Given the description of an element on the screen output the (x, y) to click on. 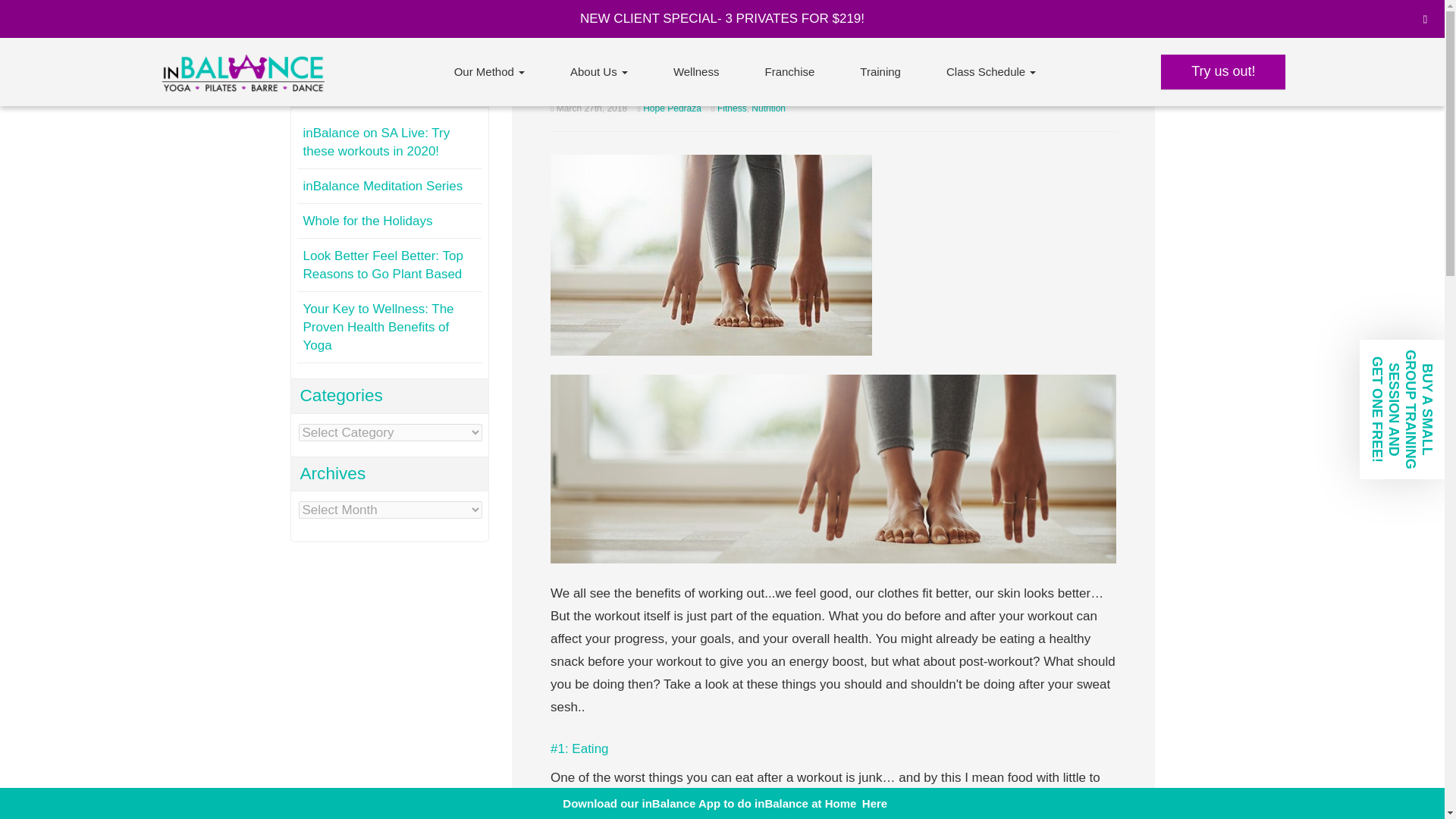
Our Method (488, 71)
Training (880, 71)
About Us (599, 71)
Nutrition (768, 108)
Franchise (788, 71)
Hope Pedraza (672, 108)
Try us out! (1222, 71)
Class Schedule (990, 71)
Wellness (696, 71)
Posts by Hope Pedraza (672, 108)
